Given the description of an element on the screen output the (x, y) to click on. 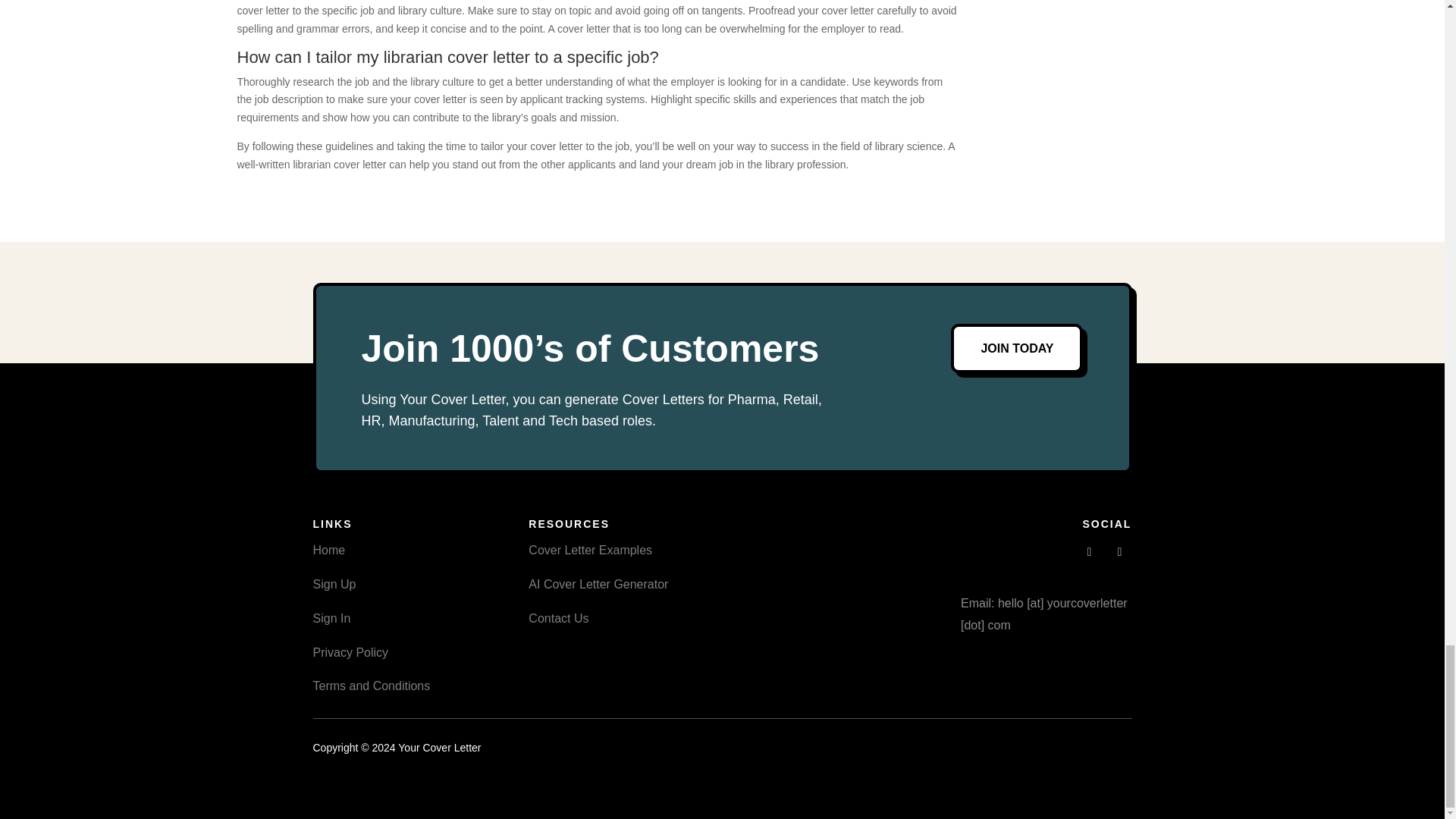
Sign Up (334, 584)
Home (329, 549)
JOIN TODAY (1016, 348)
Privacy Policy (350, 652)
Sign In (331, 617)
Terms and Conditions (371, 685)
AI Cover Letter Generator (598, 584)
Cover Letter Examples (590, 549)
